Given the description of an element on the screen output the (x, y) to click on. 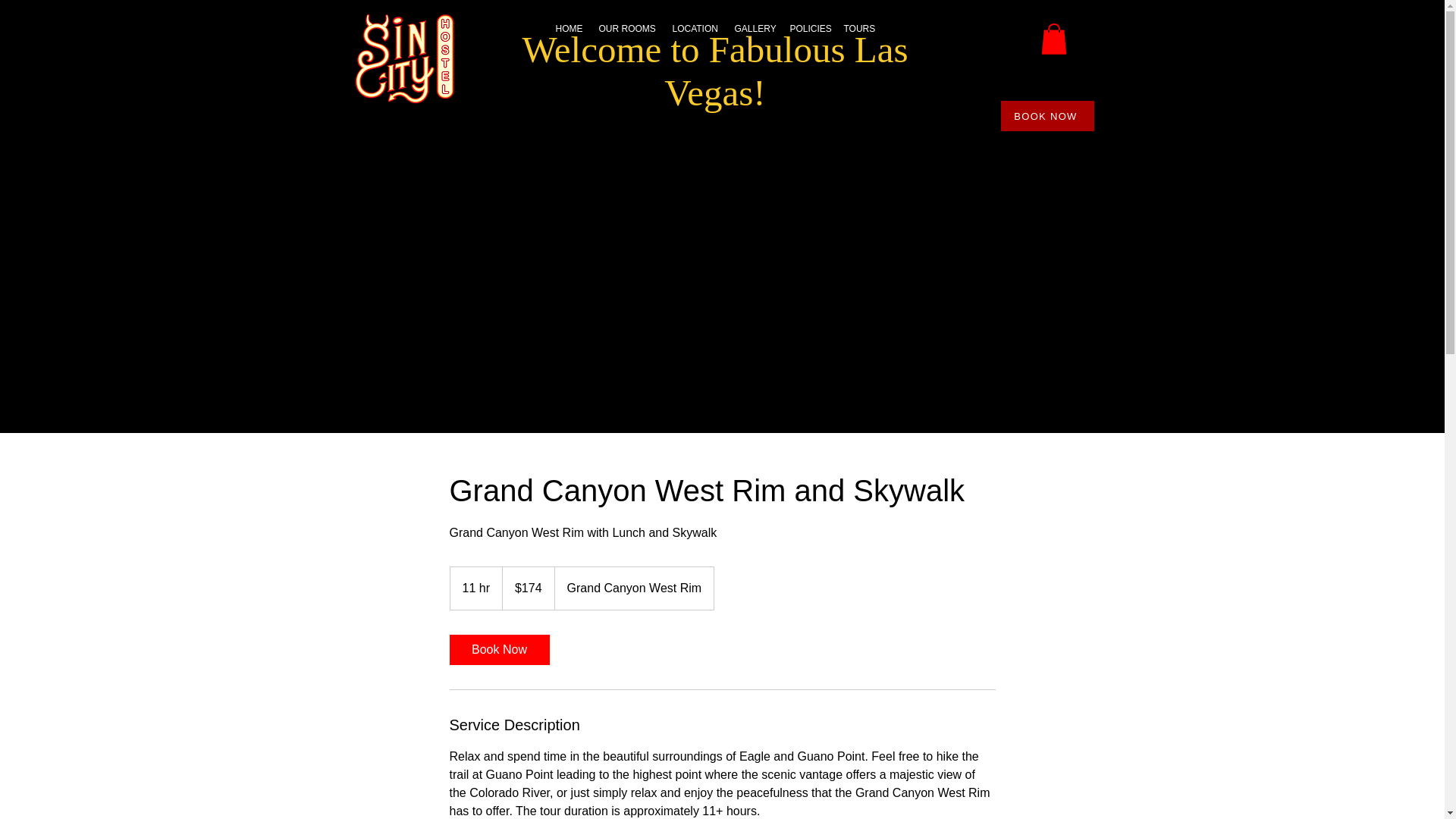
POLICIES (809, 28)
HOME (569, 28)
GALLERY (753, 28)
BOOK NOW (1047, 115)
TOURS (858, 28)
OUR ROOMS (628, 28)
LOCATION (694, 28)
Book Now (498, 649)
